Given the description of an element on the screen output the (x, y) to click on. 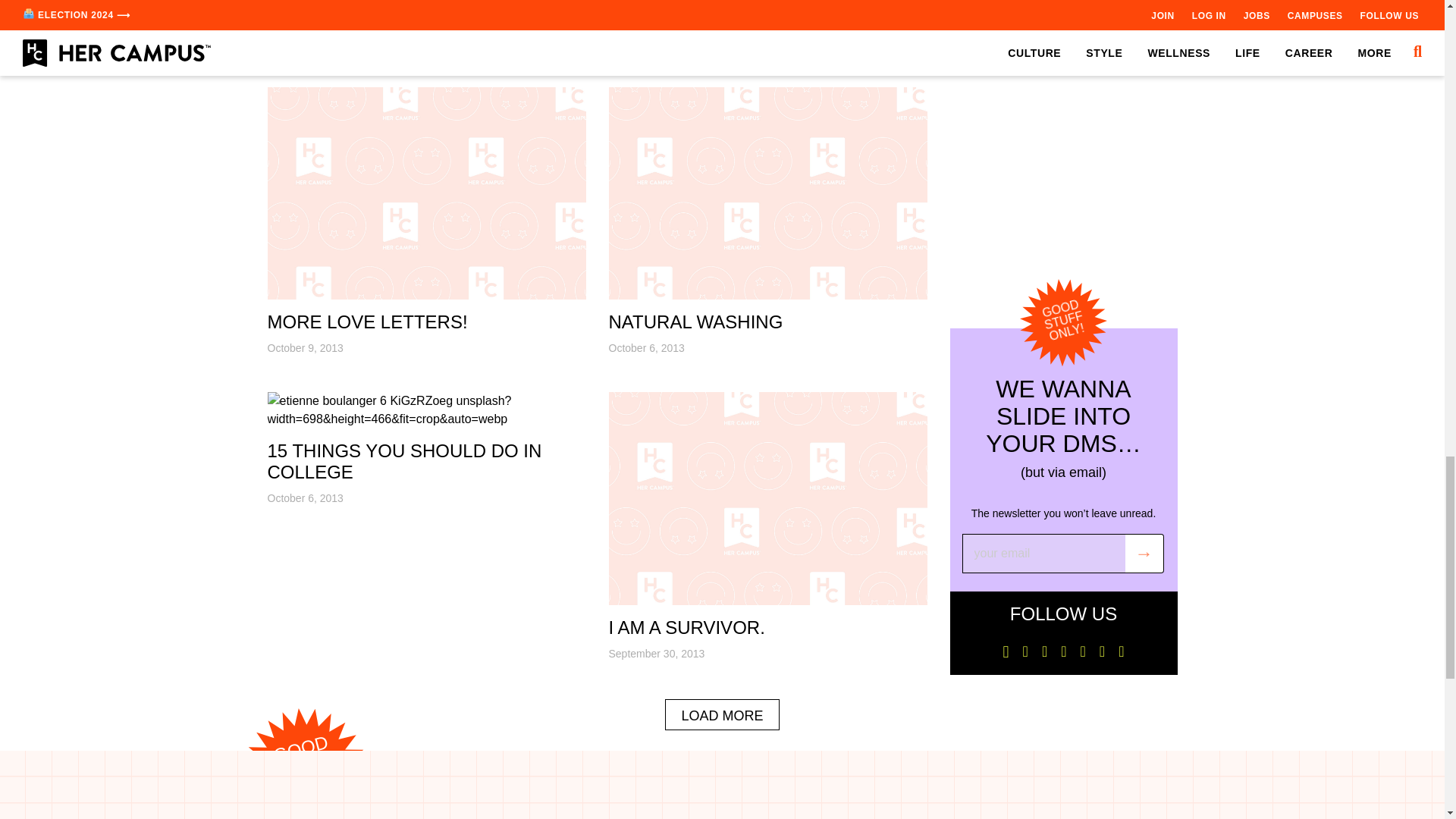
15 Things You Should Do in College 9 (425, 410)
I am a Survivor. 10 (767, 498)
Natural Washing 8 (767, 192)
More Love Letters! 7 (425, 192)
